Given the description of an element on the screen output the (x, y) to click on. 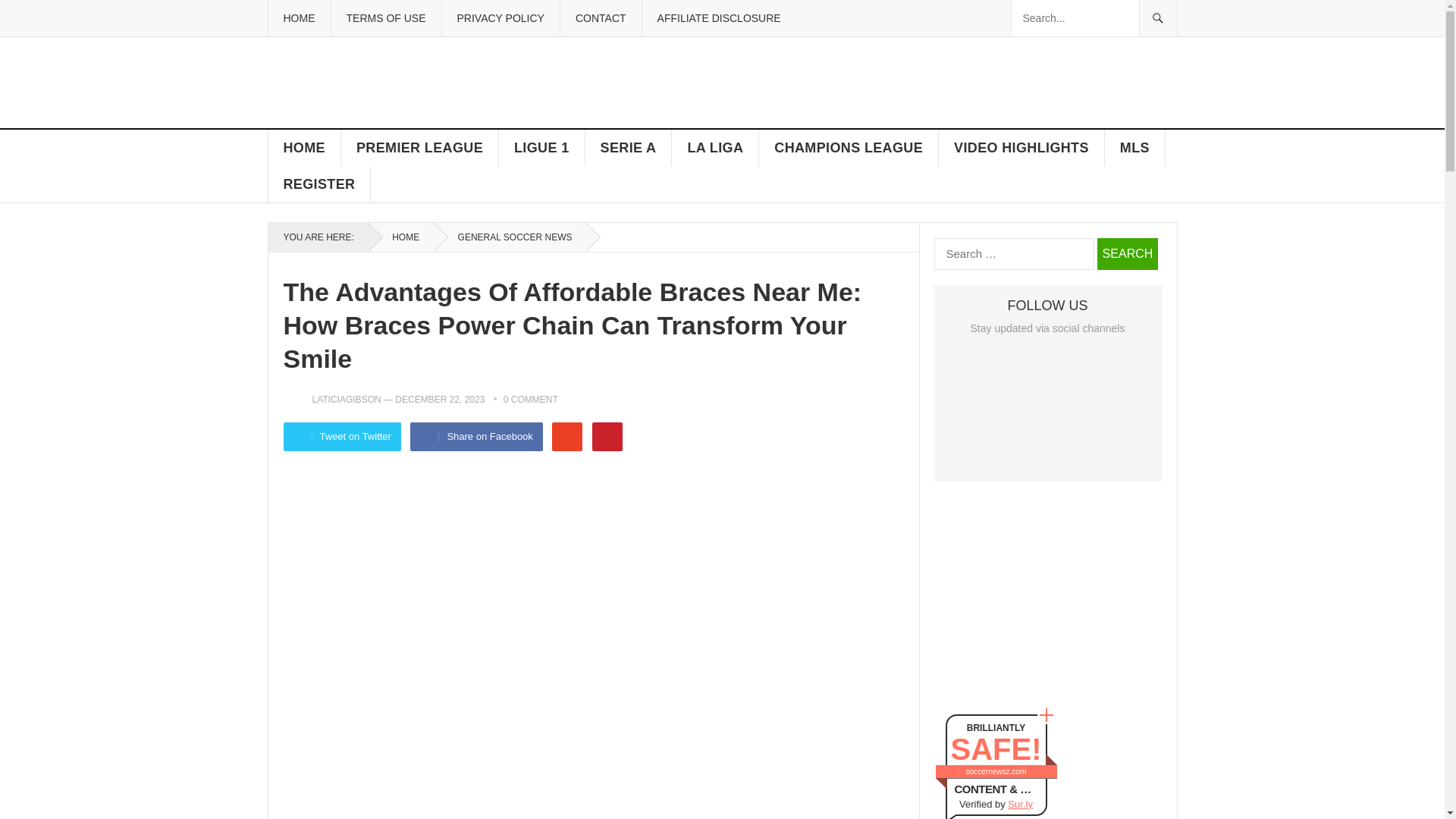
Share on Facebook (475, 436)
LIGUE 1 (542, 147)
MLS (1135, 147)
Tweet on Twitter (342, 436)
REGISTER (319, 184)
TERMS OF USE (385, 18)
GENERAL SOCCER NEWS (509, 236)
HOME (298, 18)
HOME (303, 147)
AFFILIATE DISCLOSURE (719, 18)
